Given the description of an element on the screen output the (x, y) to click on. 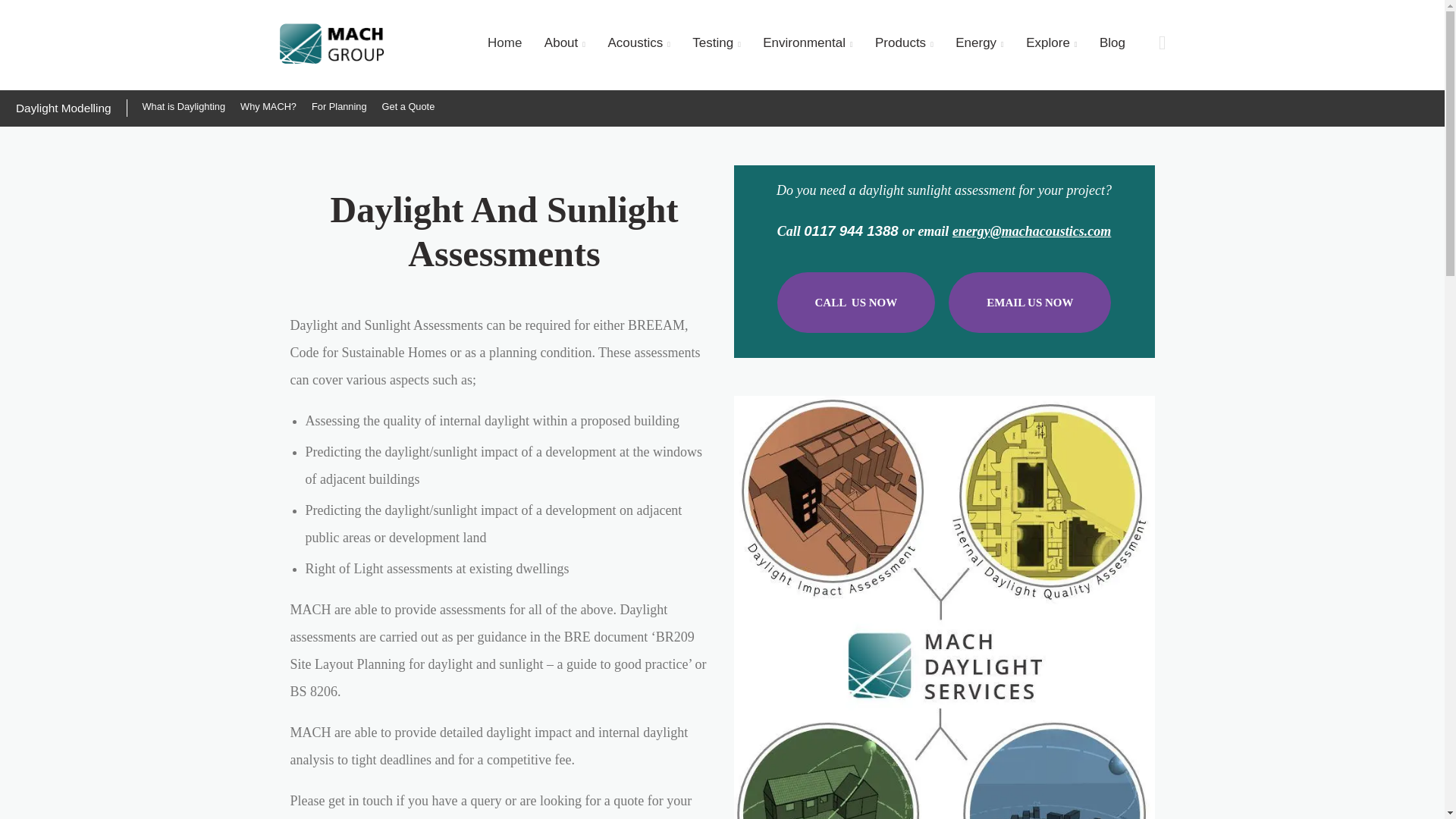
Home (504, 42)
